Given the description of an element on the screen output the (x, y) to click on. 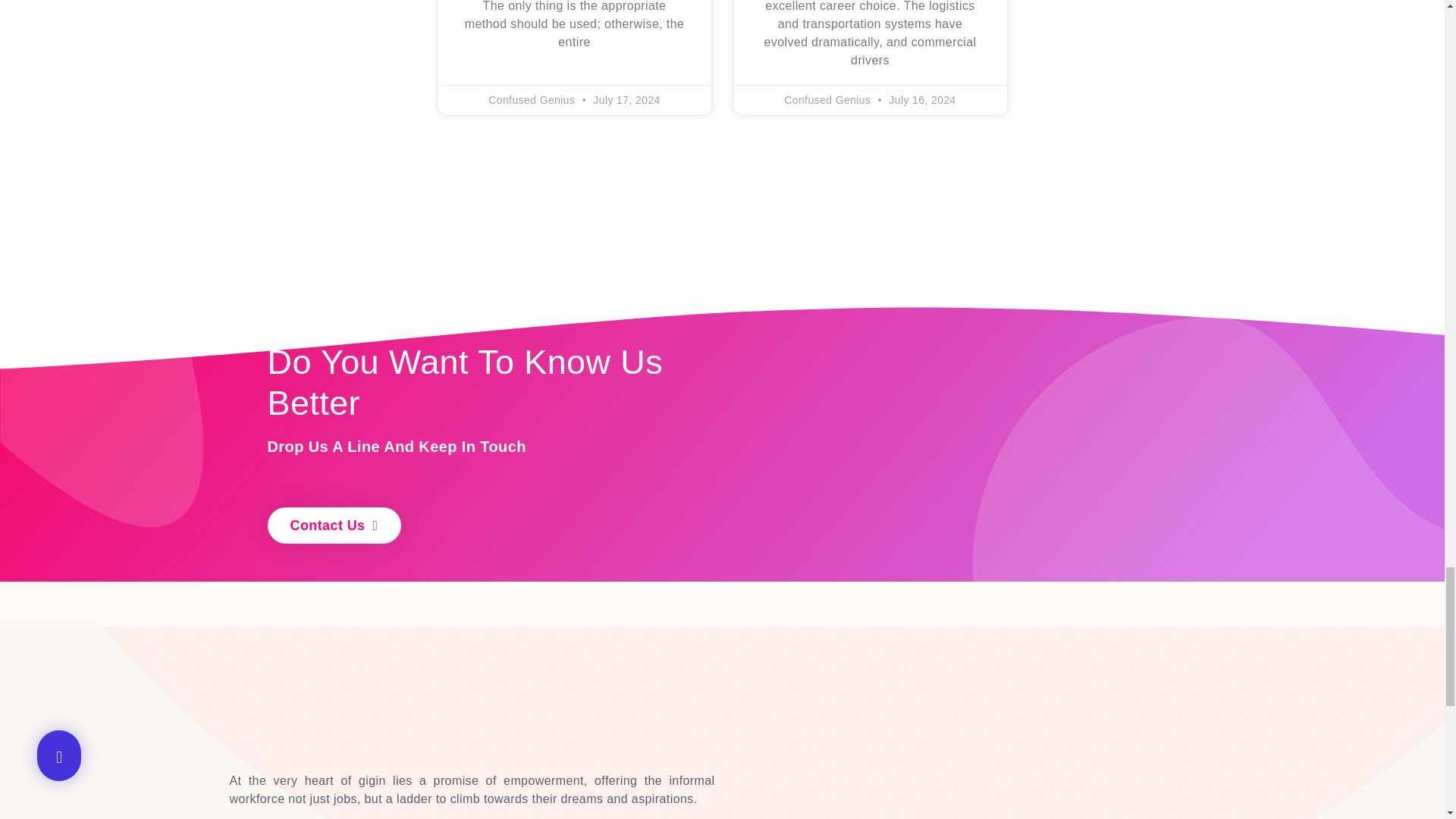
Contact Us (333, 524)
